Given the description of an element on the screen output the (x, y) to click on. 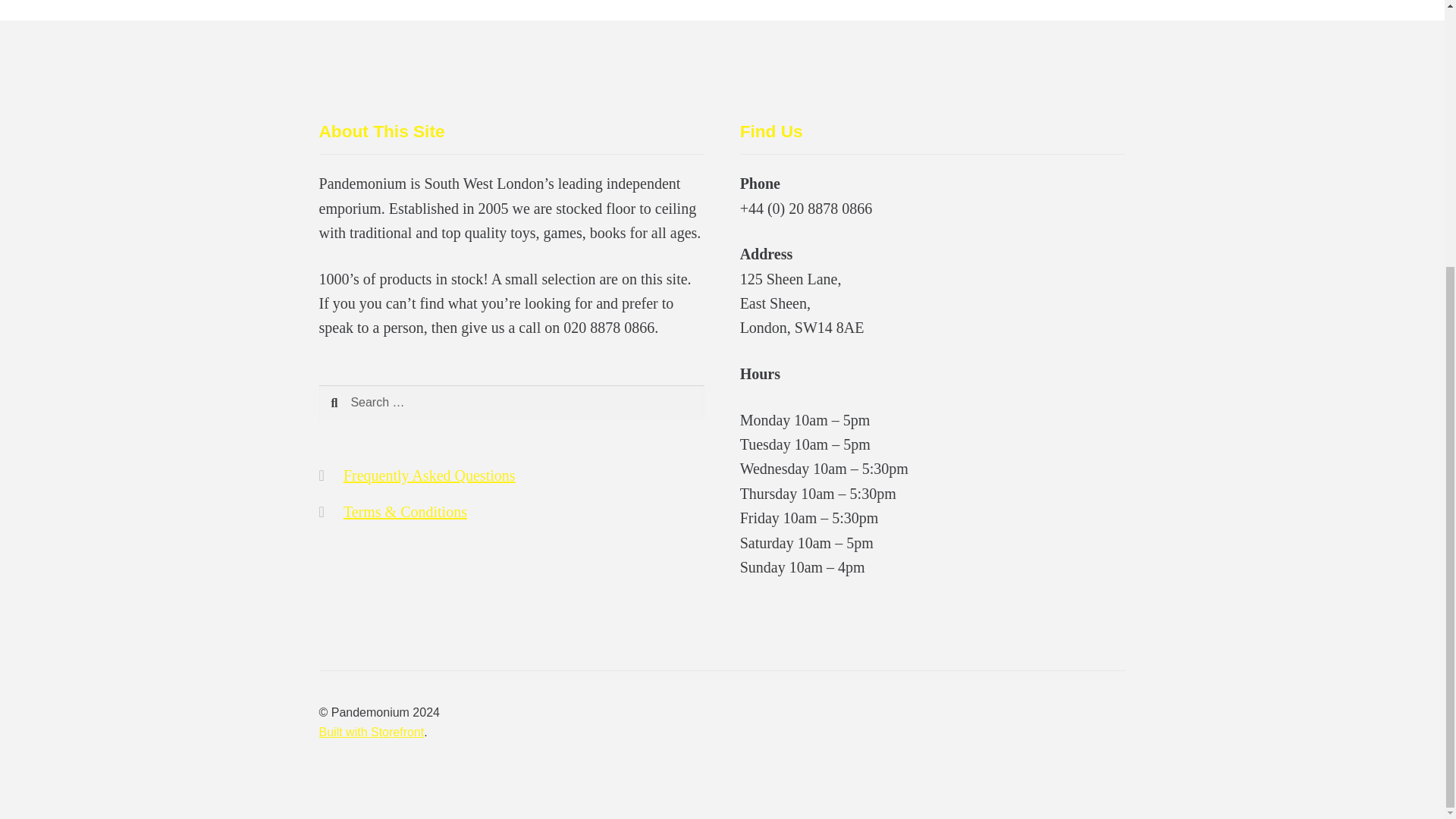
Frequently Asked Questions (429, 475)
Built with Storefront (371, 731)
